Given the description of an element on the screen output the (x, y) to click on. 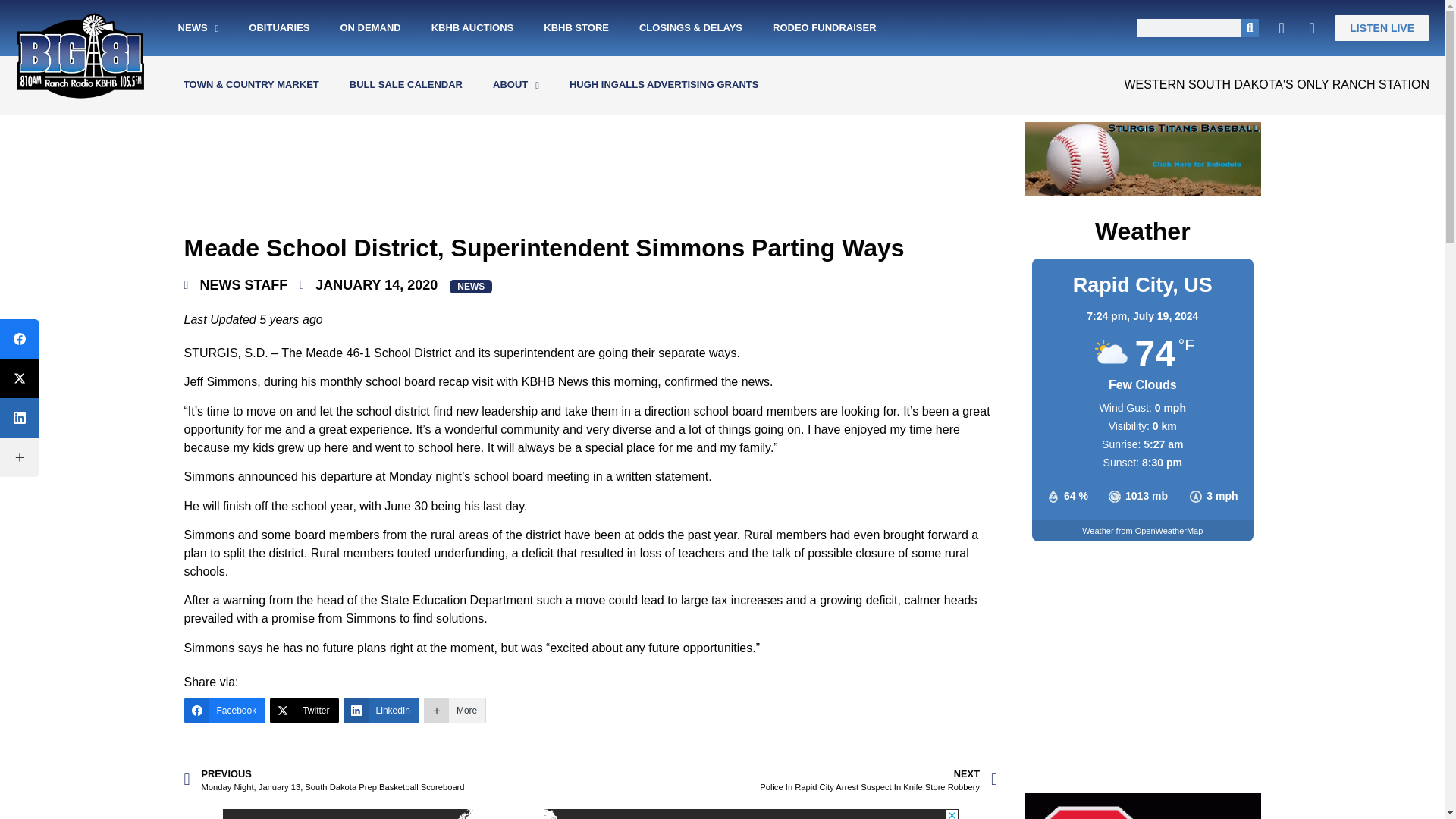
HUGH INGALLS ADVERTISING GRANTS (663, 84)
BULL SALE CALENDAR (405, 84)
NEWS (198, 27)
KBHB AUCTIONS (472, 27)
LISTEN LIVE (1382, 27)
Scooper-Logo (1142, 806)
OBITUARIES (278, 27)
RODEO FUNDRAISER (824, 27)
3rd party ad content (590, 814)
KBHB STORE (576, 27)
3rd party ad content (1142, 703)
ABOUT (515, 84)
ON DEMAND (369, 27)
